Given the description of an element on the screen output the (x, y) to click on. 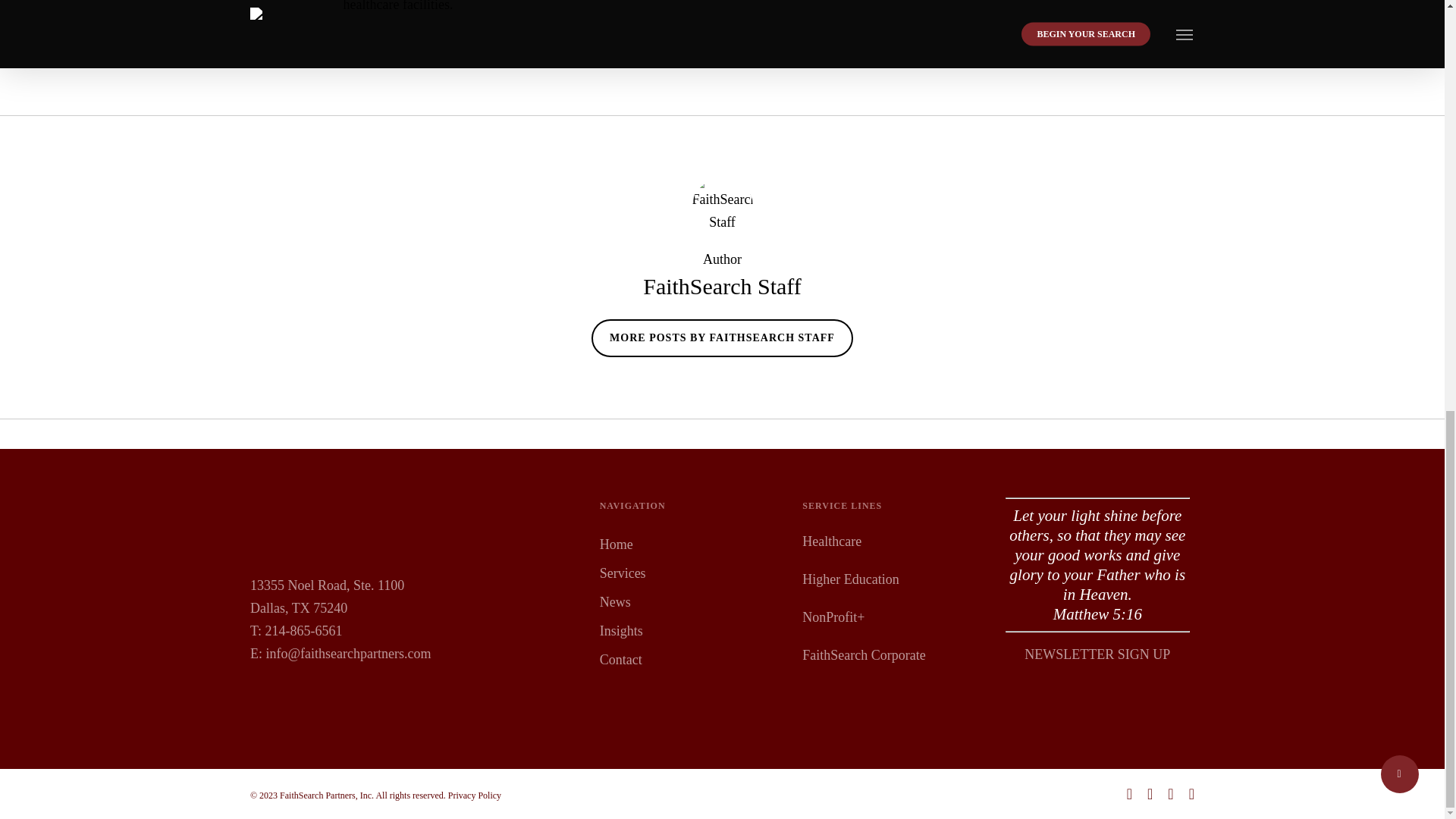
Home (691, 544)
Insights (691, 630)
Privacy Policy (474, 795)
MORE POSTS BY FAITHSEARCH STAFF (722, 338)
NEWSLETTER SIGN UP (1097, 654)
FaithSearch Corporate (863, 654)
Services (691, 572)
Healthcare (831, 540)
Higher Education (850, 579)
News (691, 601)
Contact (691, 659)
